Given the description of an element on the screen output the (x, y) to click on. 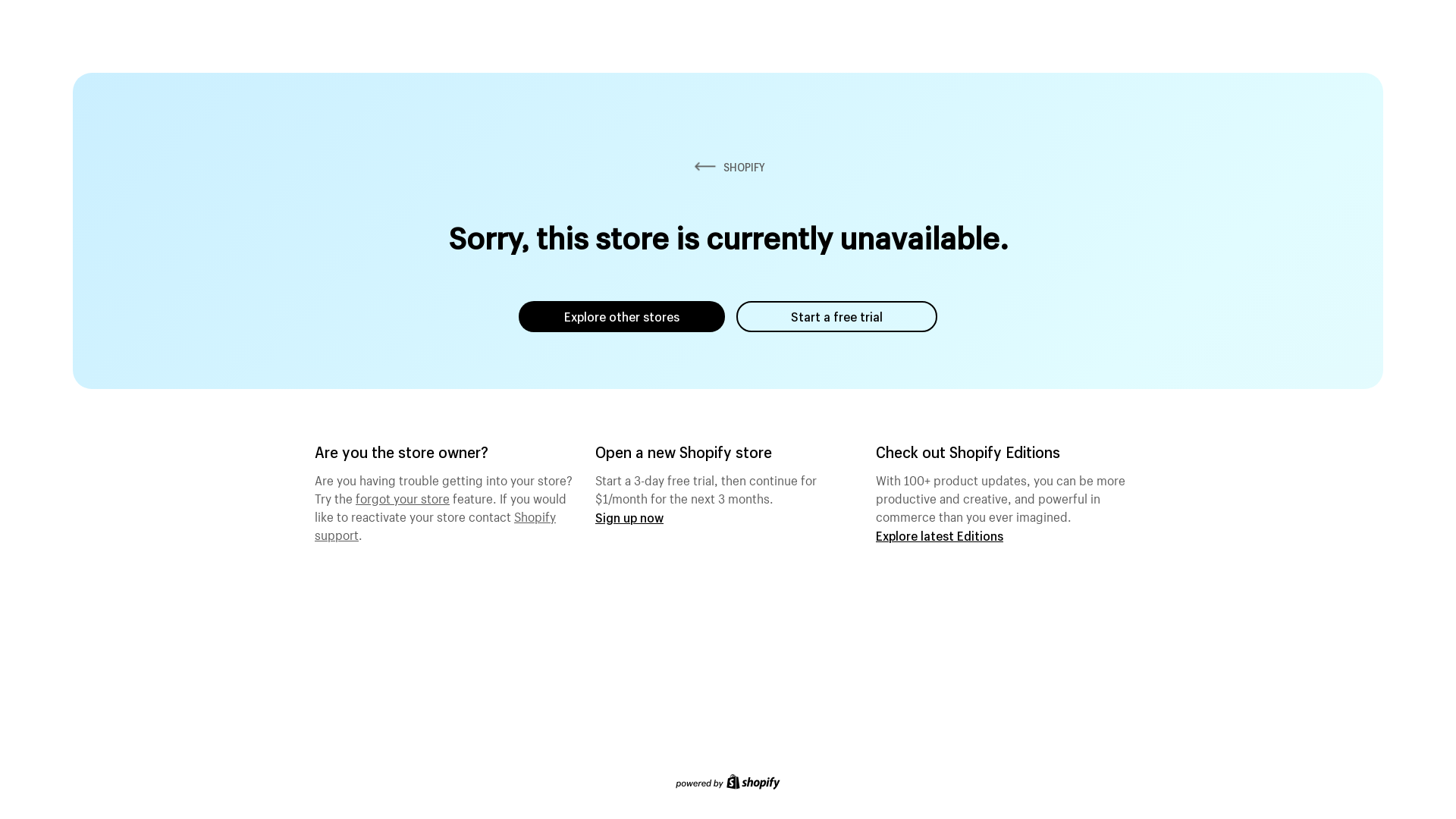
Sign up now Element type: text (629, 517)
forgot your store Element type: text (402, 496)
Start a free trial Element type: text (836, 316)
Explore other stores Element type: text (621, 316)
SHOPIFY Element type: text (727, 167)
Shopify support Element type: text (434, 523)
Explore latest Editions Element type: text (939, 535)
